Given the description of an element on the screen output the (x, y) to click on. 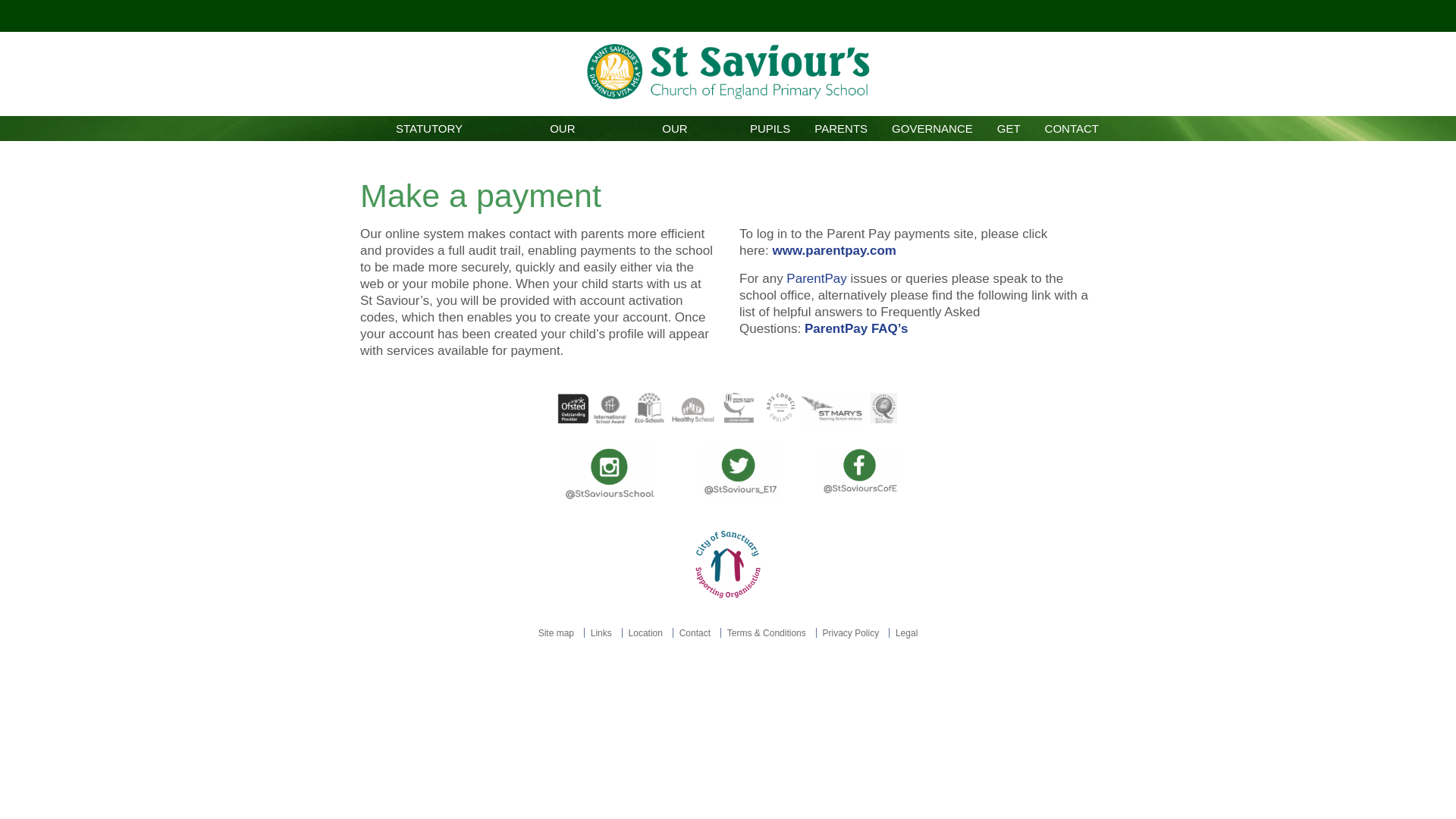
Click here! (726, 15)
STATUTORY INFORMATION (428, 128)
PUPILS (769, 128)
OUR CURRICULUM (674, 128)
OUR SCHOOL (562, 128)
